Given the description of an element on the screen output the (x, y) to click on. 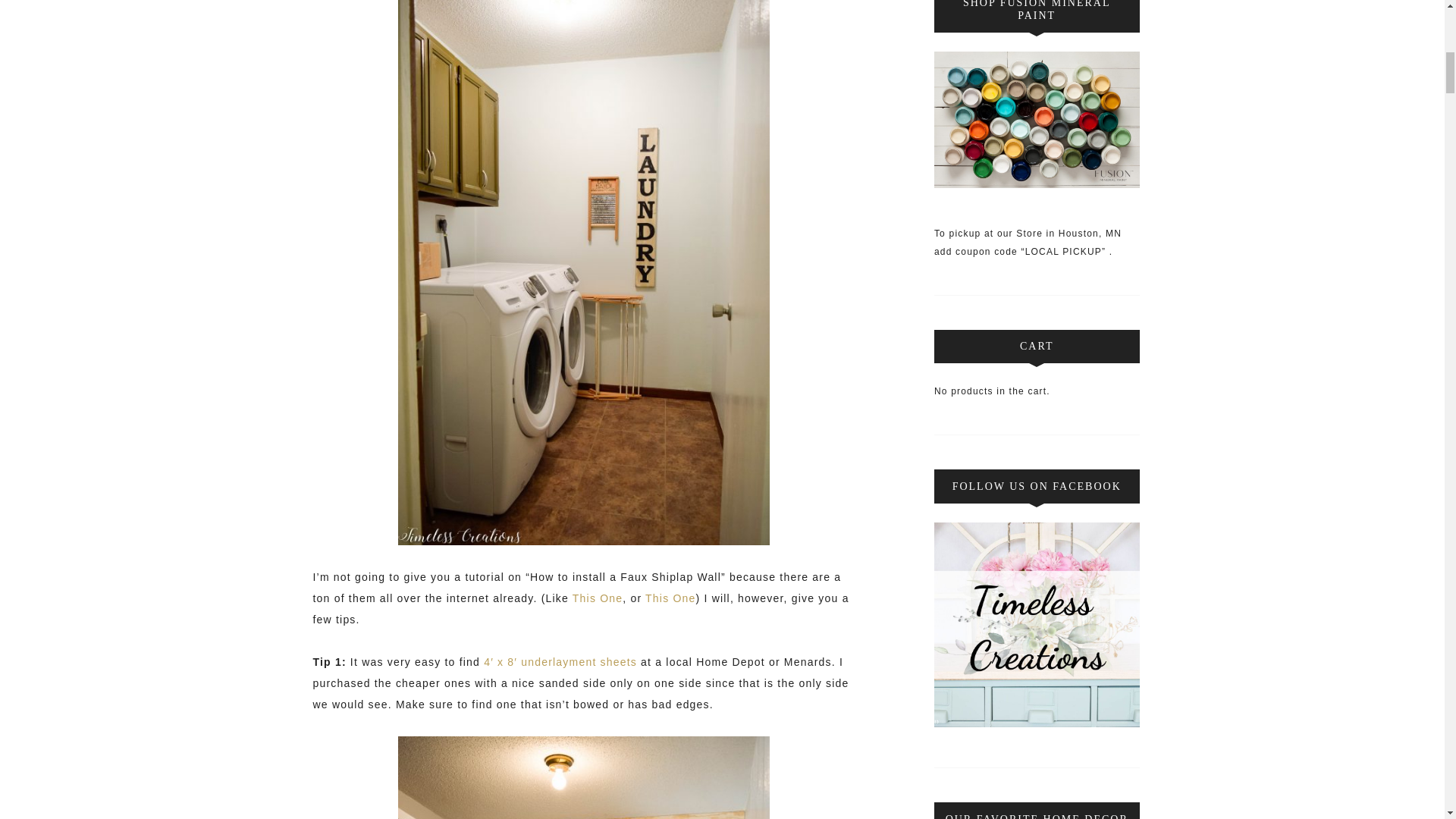
This One (597, 598)
This One (670, 598)
